Given the description of an element on the screen output the (x, y) to click on. 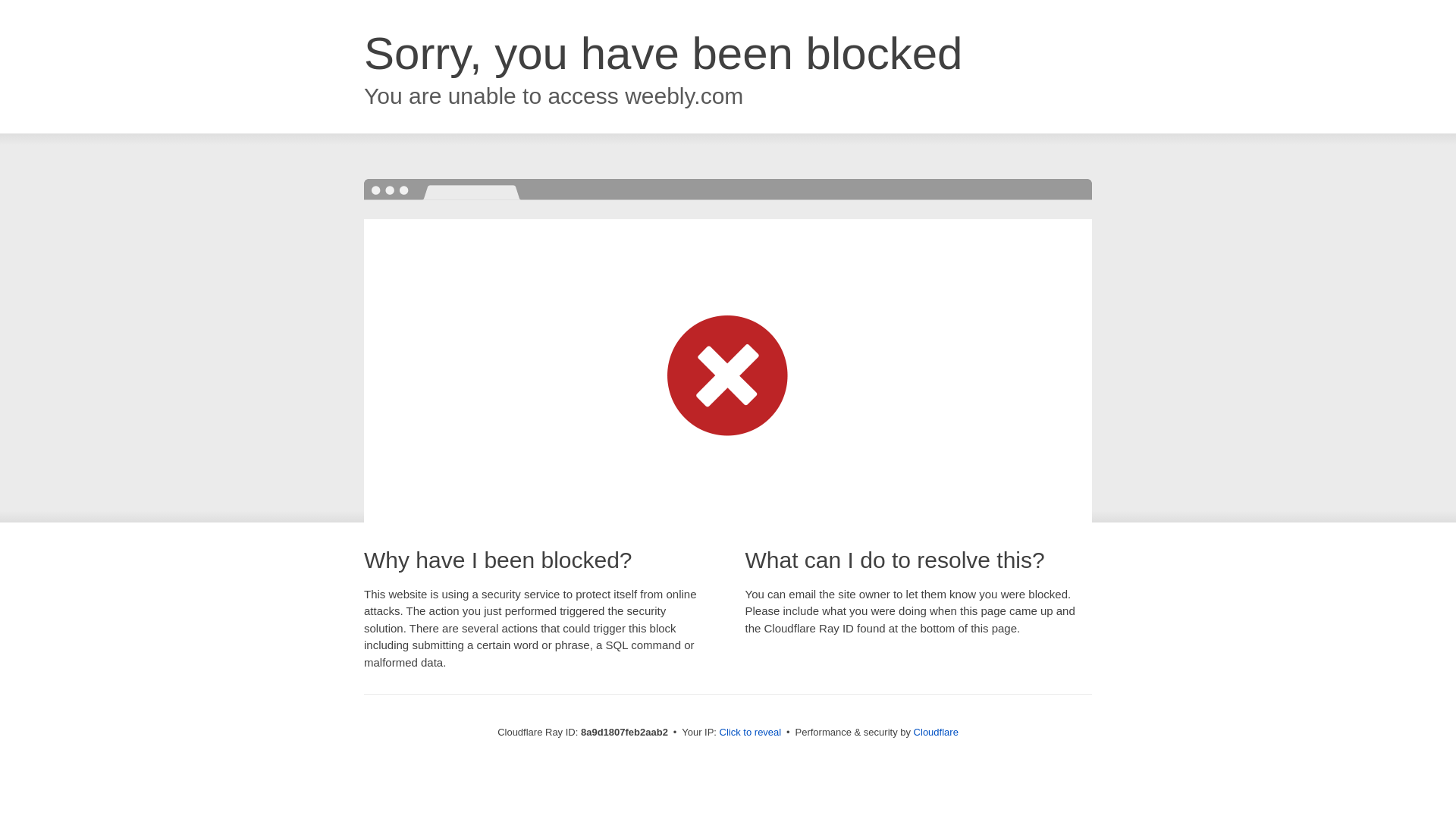
Cloudflare (936, 731)
Click to reveal (750, 732)
